Given the description of an element on the screen output the (x, y) to click on. 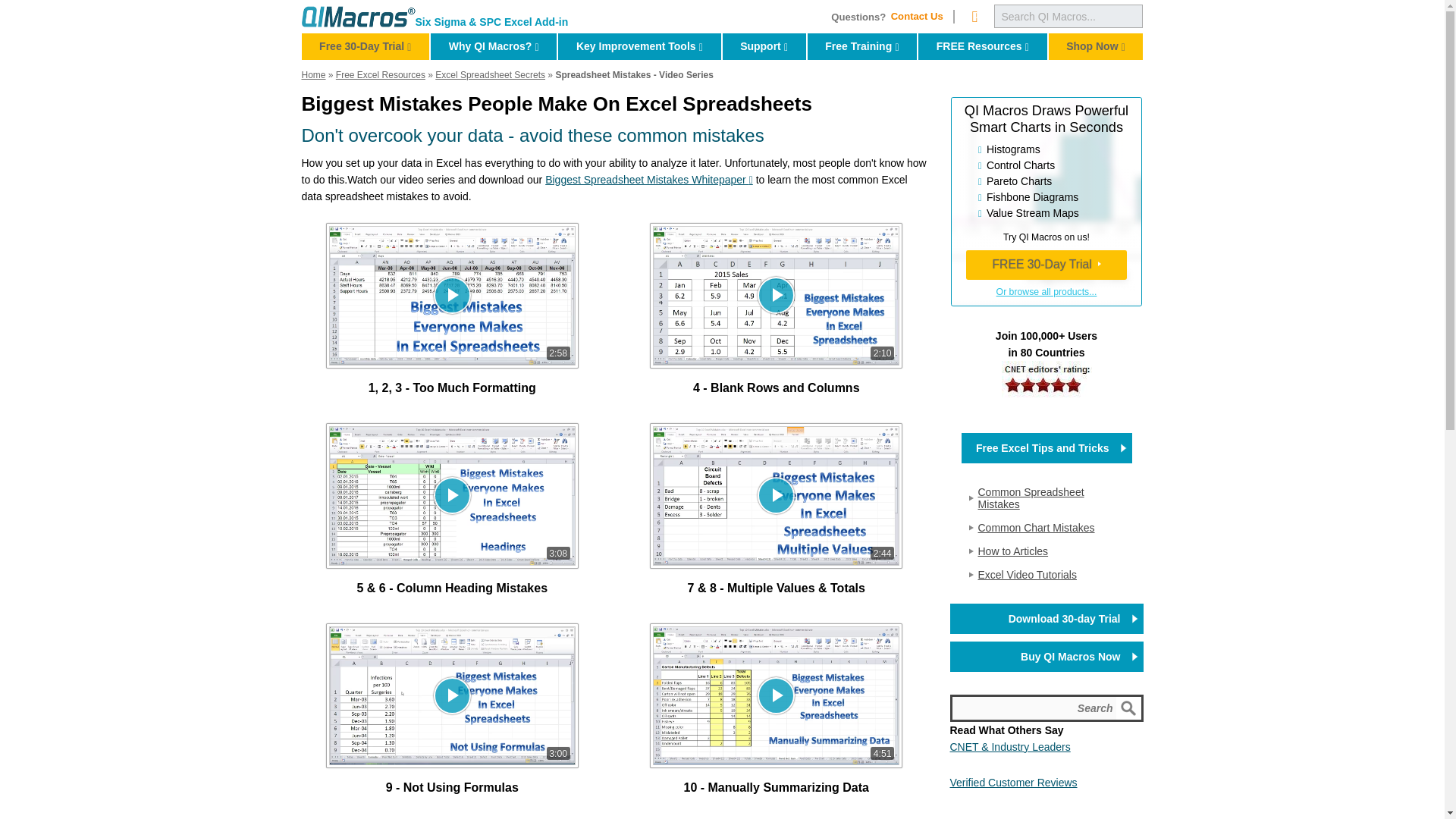
Key Improvement Tools (638, 46)
Why QI Macros? (493, 46)
Free 30-Day Trial (365, 46)
Cart (974, 16)
Home (357, 16)
Support (764, 46)
Free Training (862, 46)
Contact Us (921, 16)
GO (1129, 707)
